Given the description of an element on the screen output the (x, y) to click on. 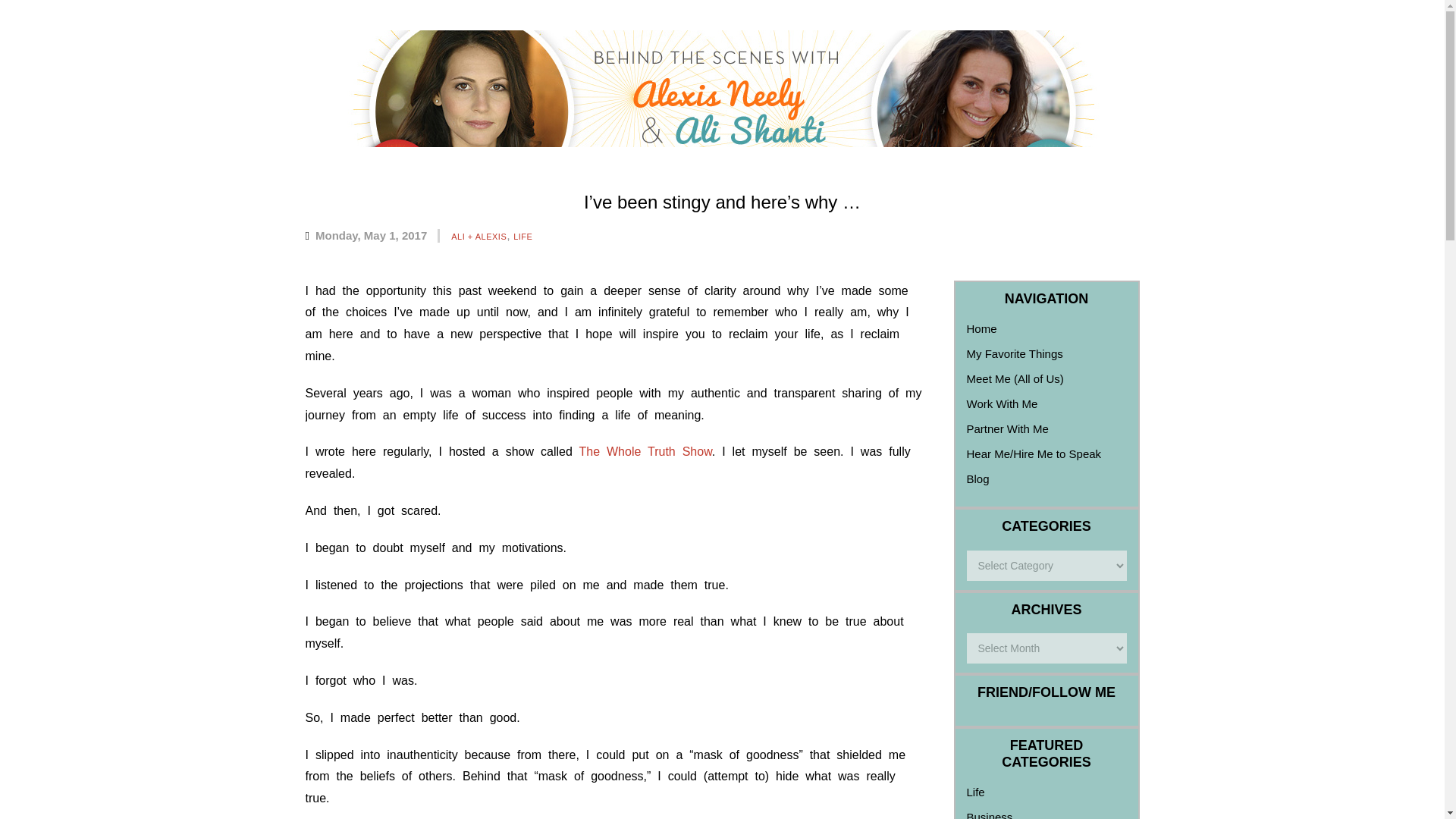
Home (980, 328)
LIFE (522, 235)
The Whole Truth Show (644, 451)
My Favorite Things (1014, 353)
